Given the description of an element on the screen output the (x, y) to click on. 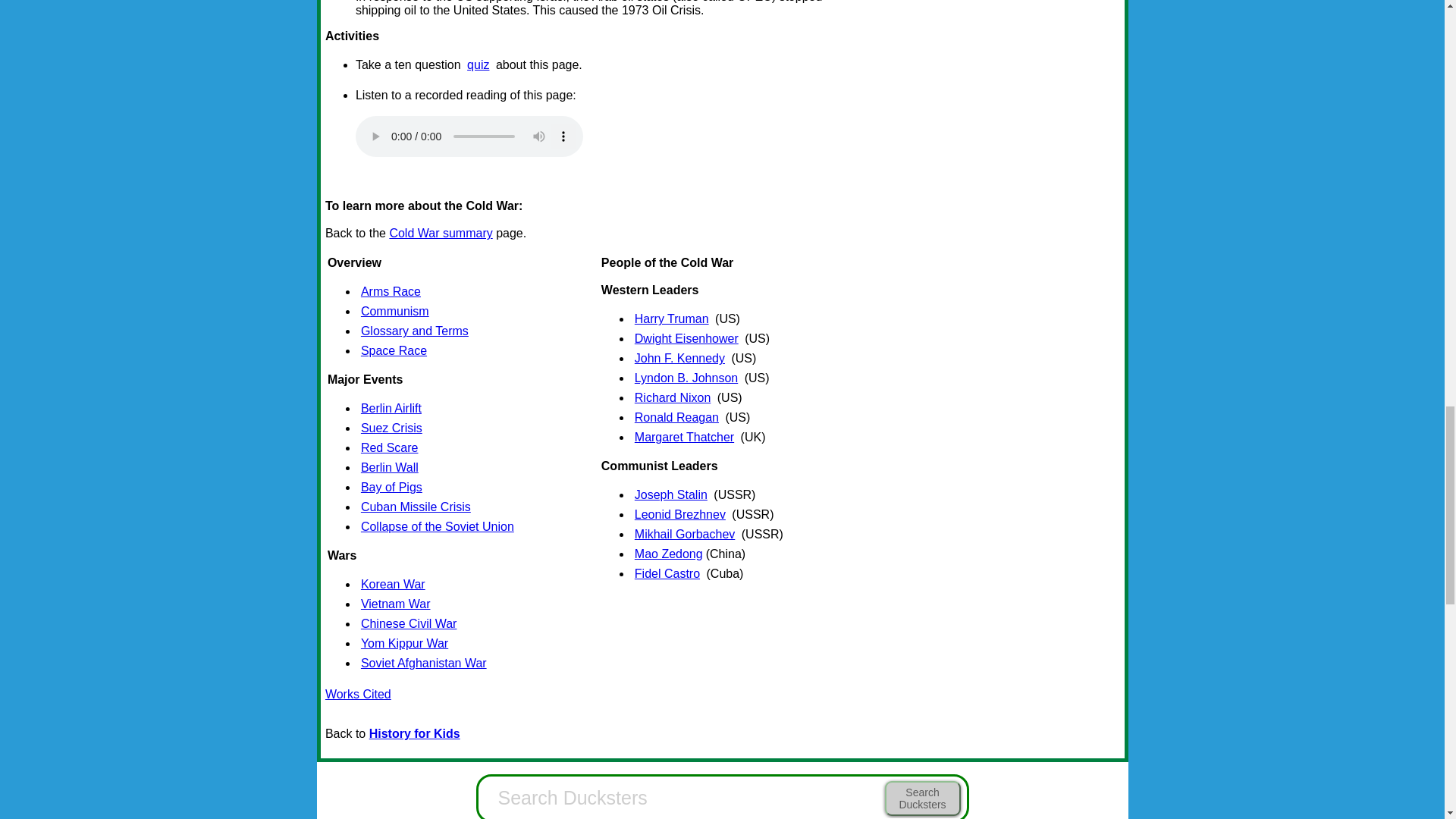
Red Scare (390, 448)
Suez Crisis (391, 427)
Harry Truman (671, 318)
Space Race (393, 350)
Mikhail Gorbachev (684, 534)
Glossary and Terms (414, 331)
Soviet Afghanistan War (423, 663)
Vietnam War (395, 603)
Ronald Reagan (676, 418)
Dwight Eisenhower (686, 338)
